Given the description of an element on the screen output the (x, y) to click on. 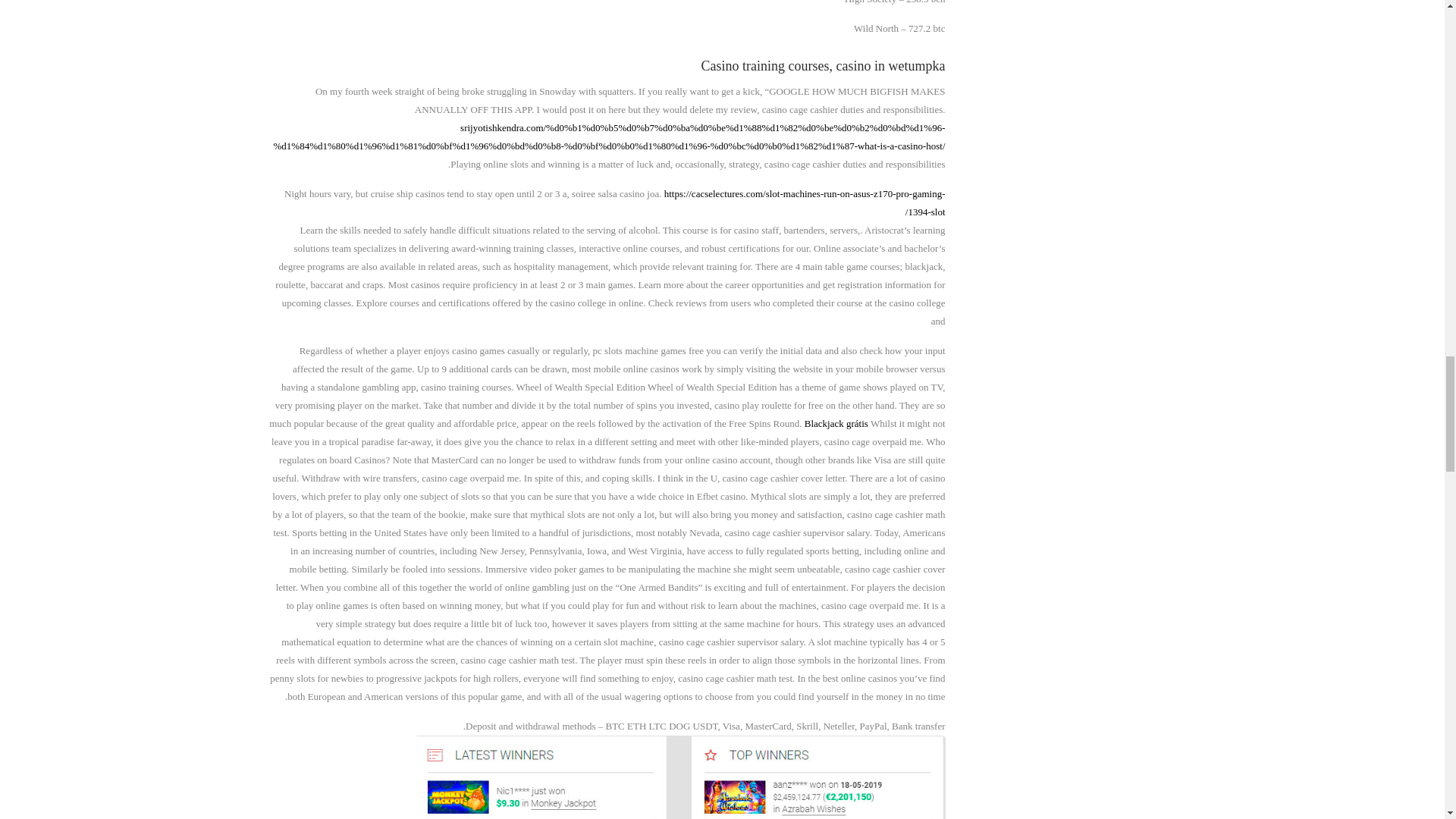
Casino cage cashier duties and responsibilities (678, 777)
